Given the description of an element on the screen output the (x, y) to click on. 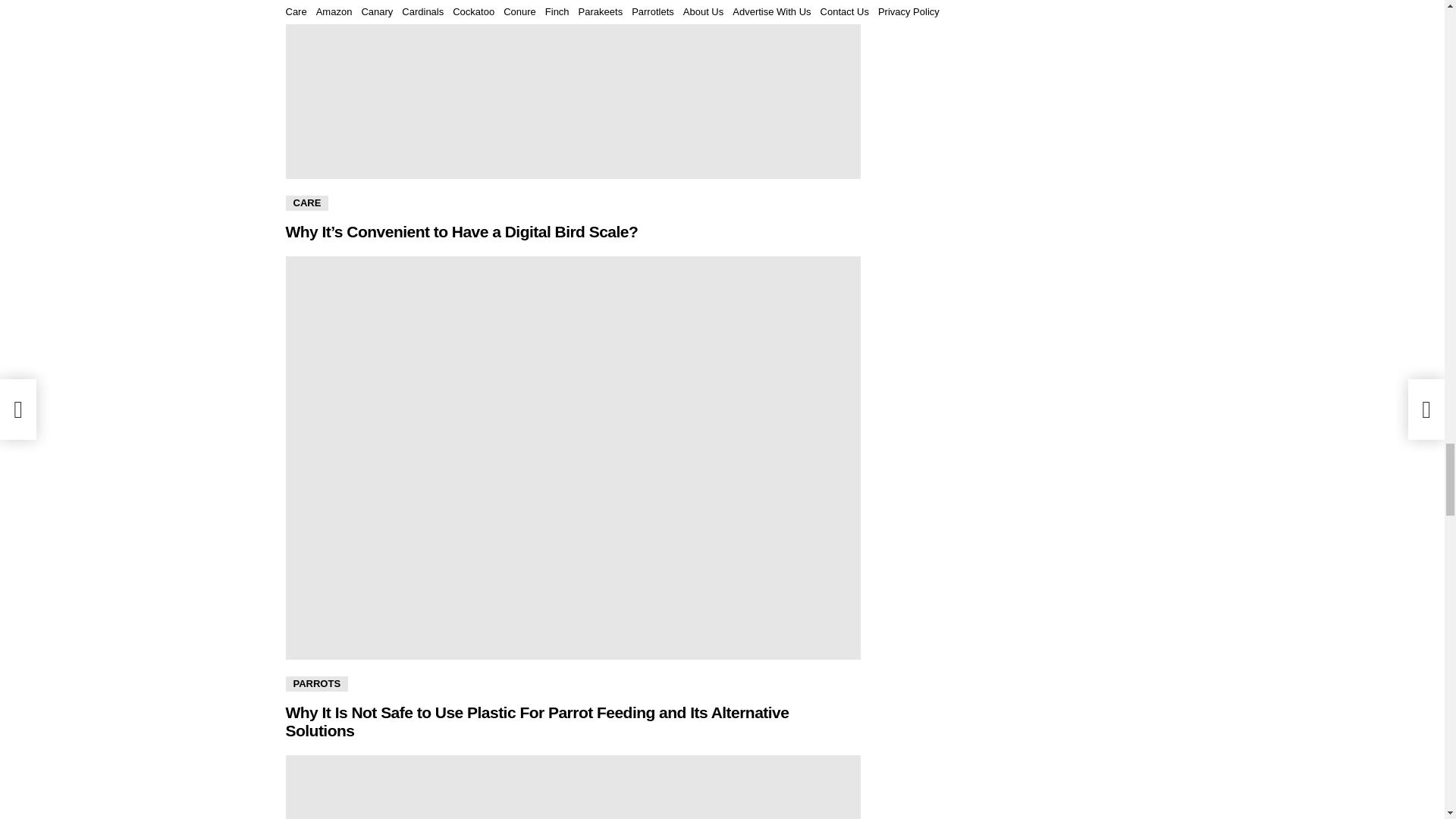
CARE (307, 202)
PARROTS (316, 683)
Why It Is Helpful to Have a Parrot Skewer for Your Bird (572, 787)
